Given the description of an element on the screen output the (x, y) to click on. 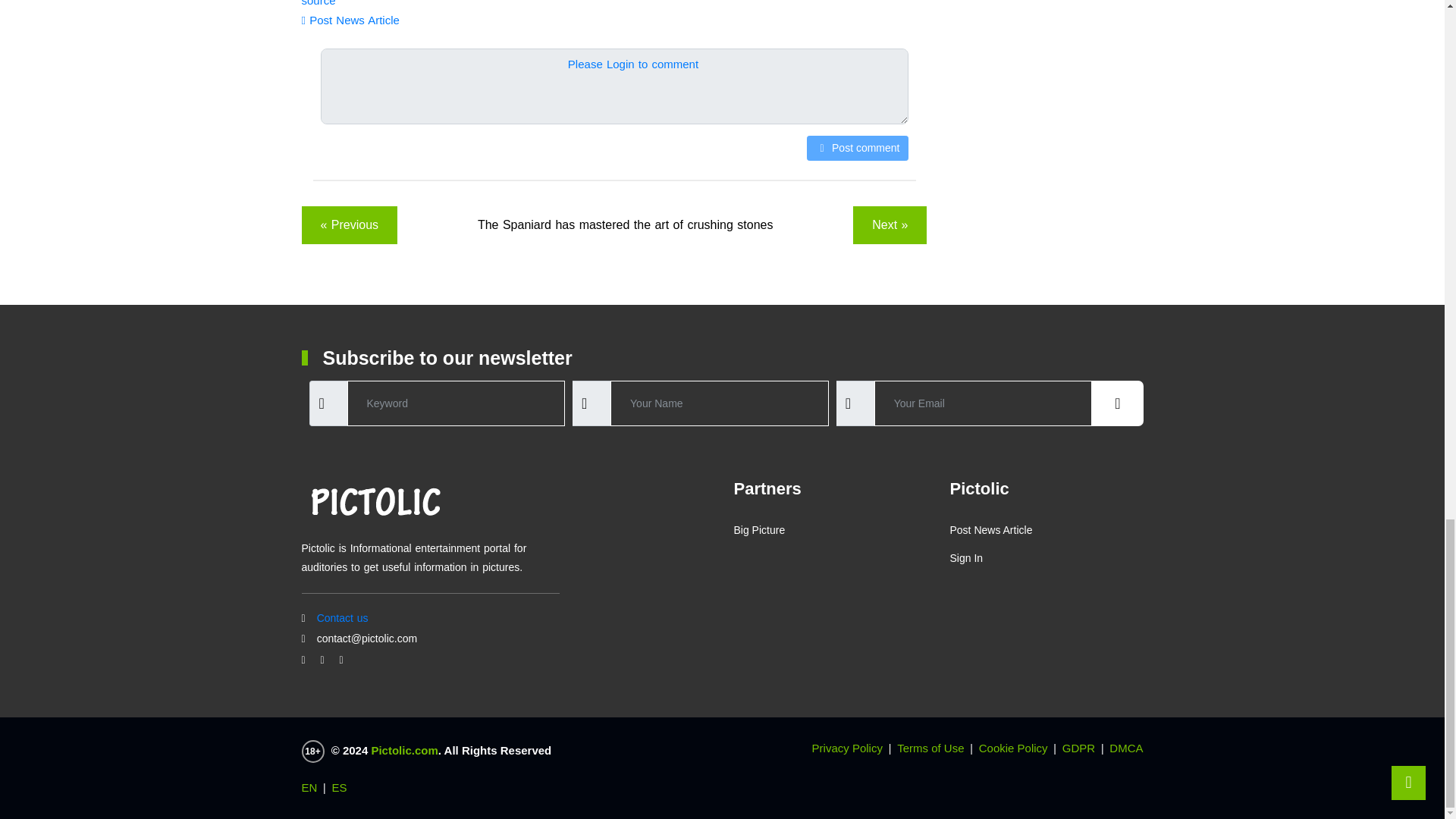
source (318, 3)
Post News Article (349, 19)
The Spaniard has mastered the art of crushing stones (625, 225)
Post comment (856, 147)
Please Login to comment (632, 64)
